Given the description of an element on the screen output the (x, y) to click on. 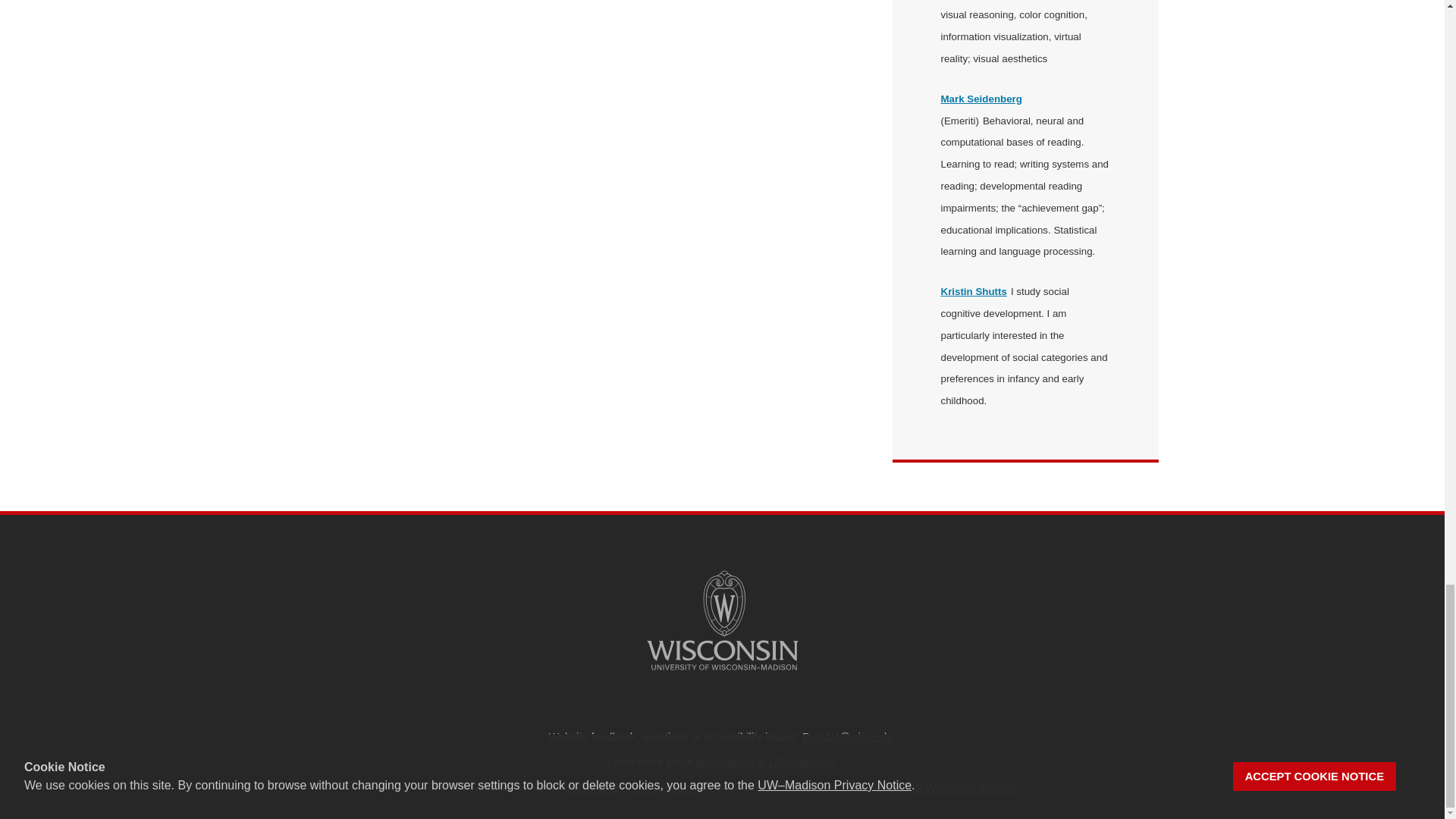
Kristin Shutts Faculty-Staff Page (973, 291)
University logo that links to main university website (721, 620)
Mark S. Seidenberg Faculty-Staff Page (981, 98)
